Given the description of an element on the screen output the (x, y) to click on. 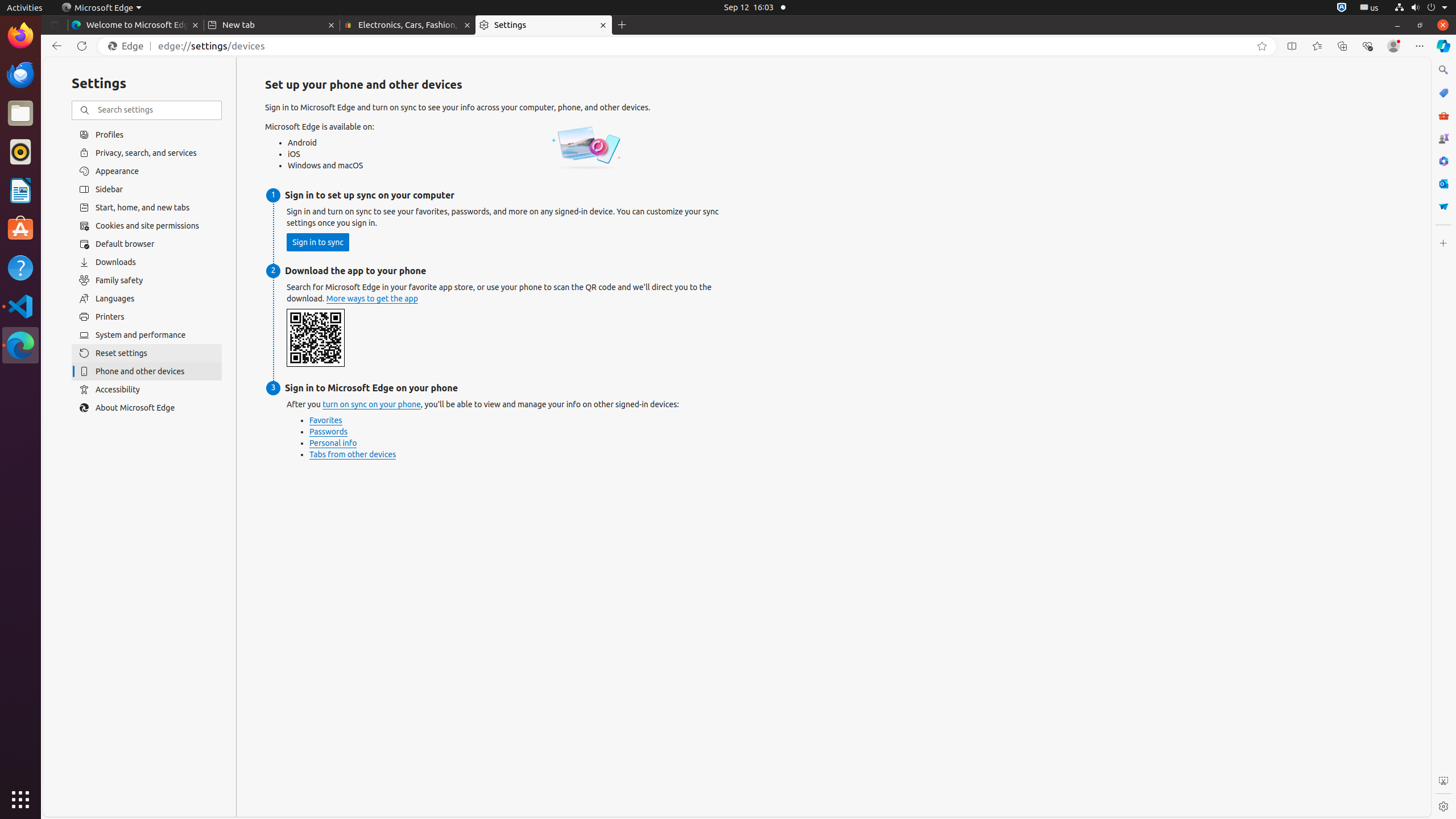
New Tab Element type: push-button (622, 25)
Thunderbird Mail Element type: push-button (20, 74)
Languages Element type: tree-item (146, 298)
Copilot (Ctrl+Shift+.) Element type: push-button (1443, 45)
Settings Element type: page-tab (543, 25)
